Given the description of an element on the screen output the (x, y) to click on. 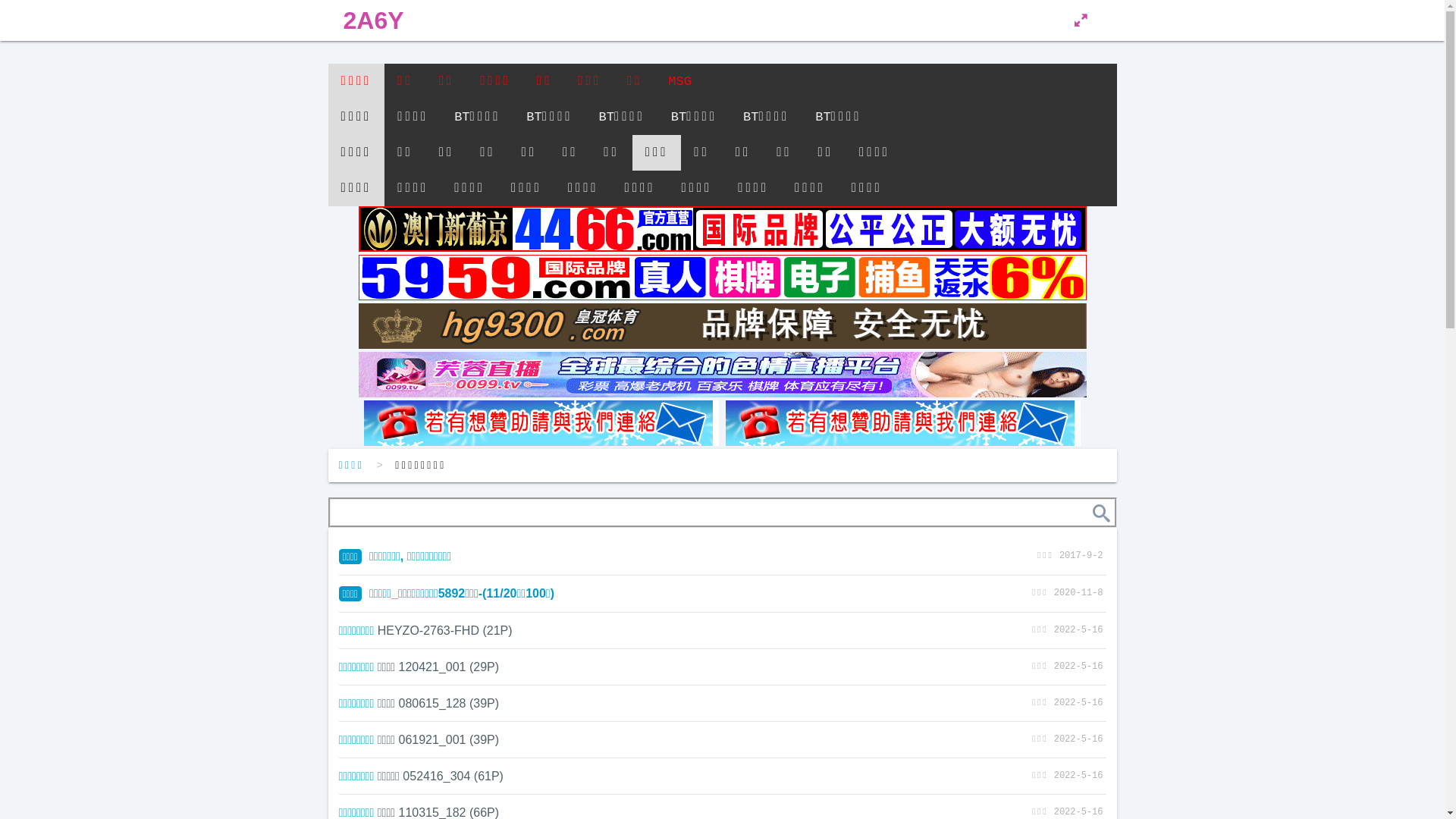
2A6Y Element type: text (372, 20)
MSG Element type: text (679, 81)
HEYZO-2763-FHD (21P) Element type: text (444, 630)
